Given the description of an element on the screen output the (x, y) to click on. 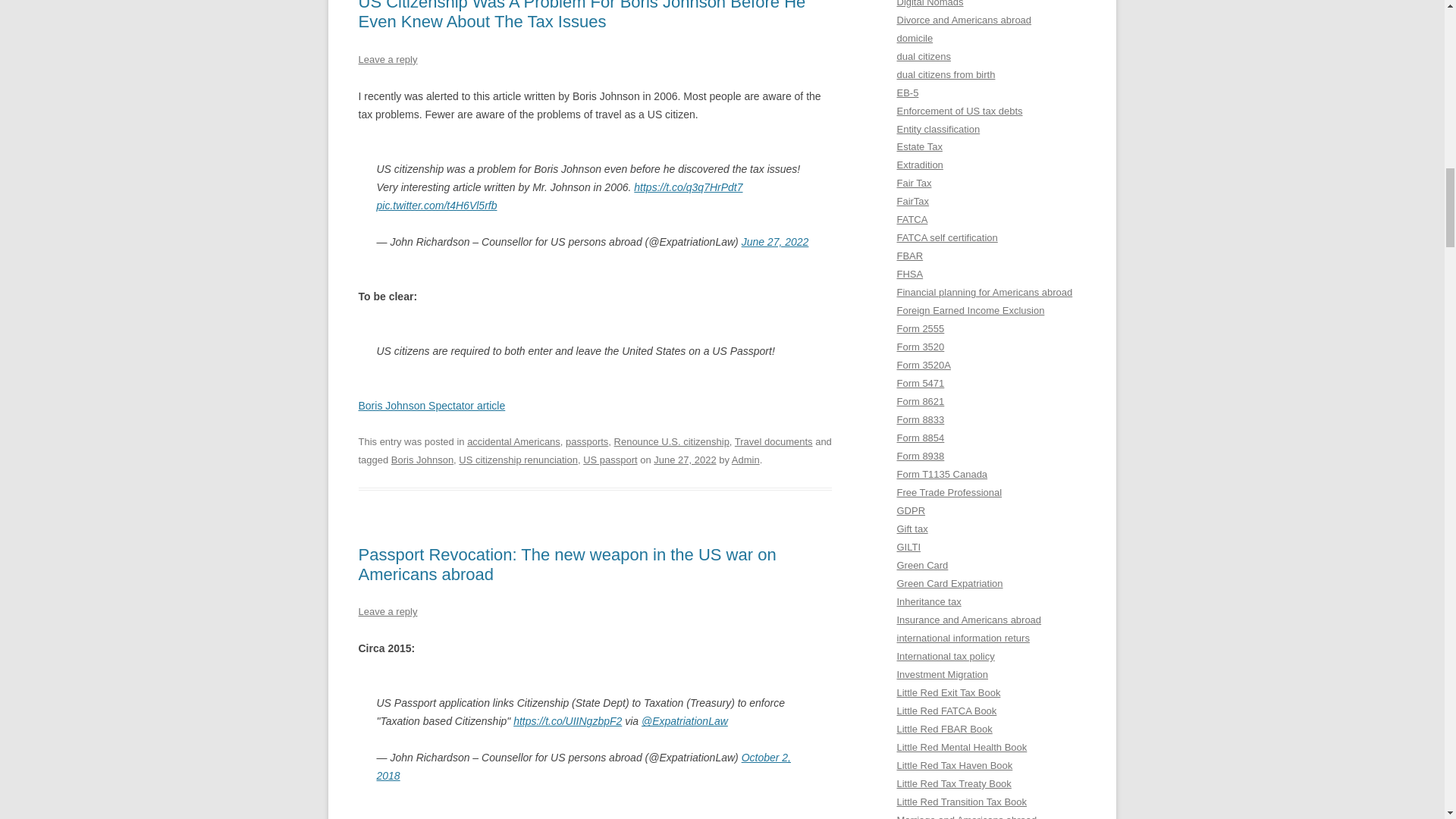
View all posts by Admin (746, 460)
3:01 pm (684, 460)
